Given the description of an element on the screen output the (x, y) to click on. 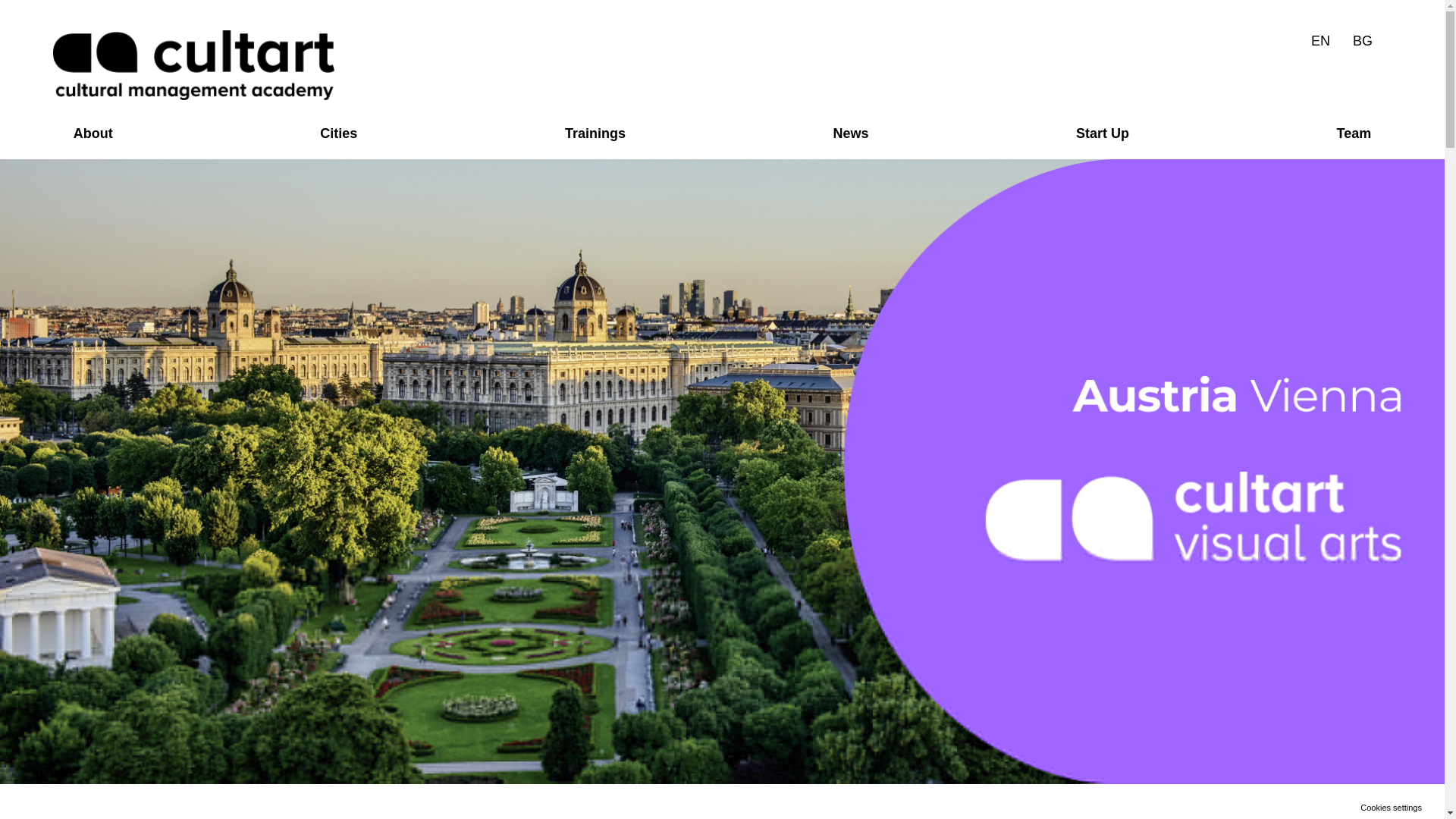
Cities (338, 133)
Start Up (1102, 133)
Team (1354, 133)
News (850, 133)
Team (1354, 133)
EN (1320, 40)
BG (1362, 40)
About (93, 133)
Trainings (595, 133)
Trainings (595, 133)
